Given the description of an element on the screen output the (x, y) to click on. 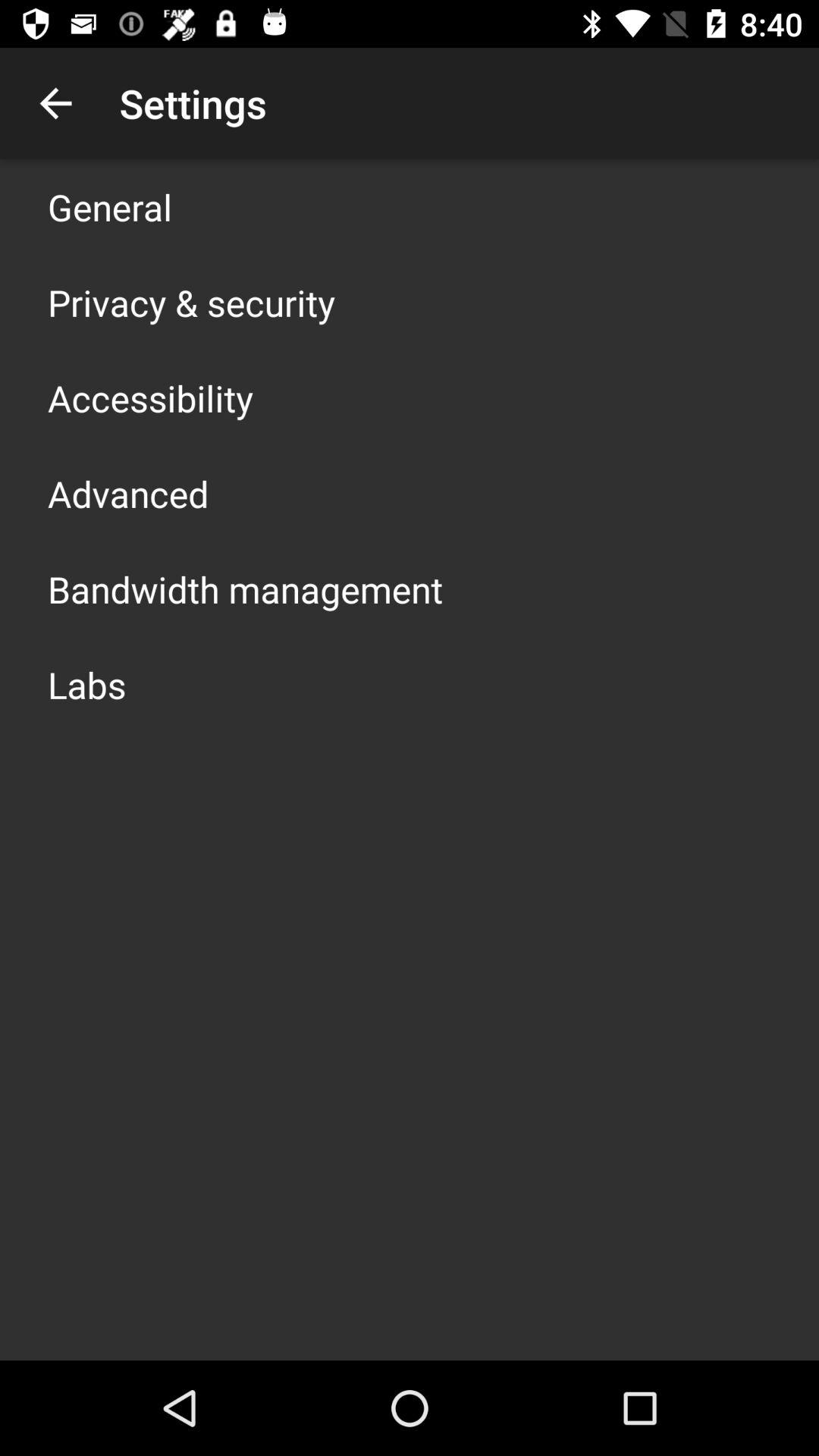
select the app above advanced (150, 397)
